Given the description of an element on the screen output the (x, y) to click on. 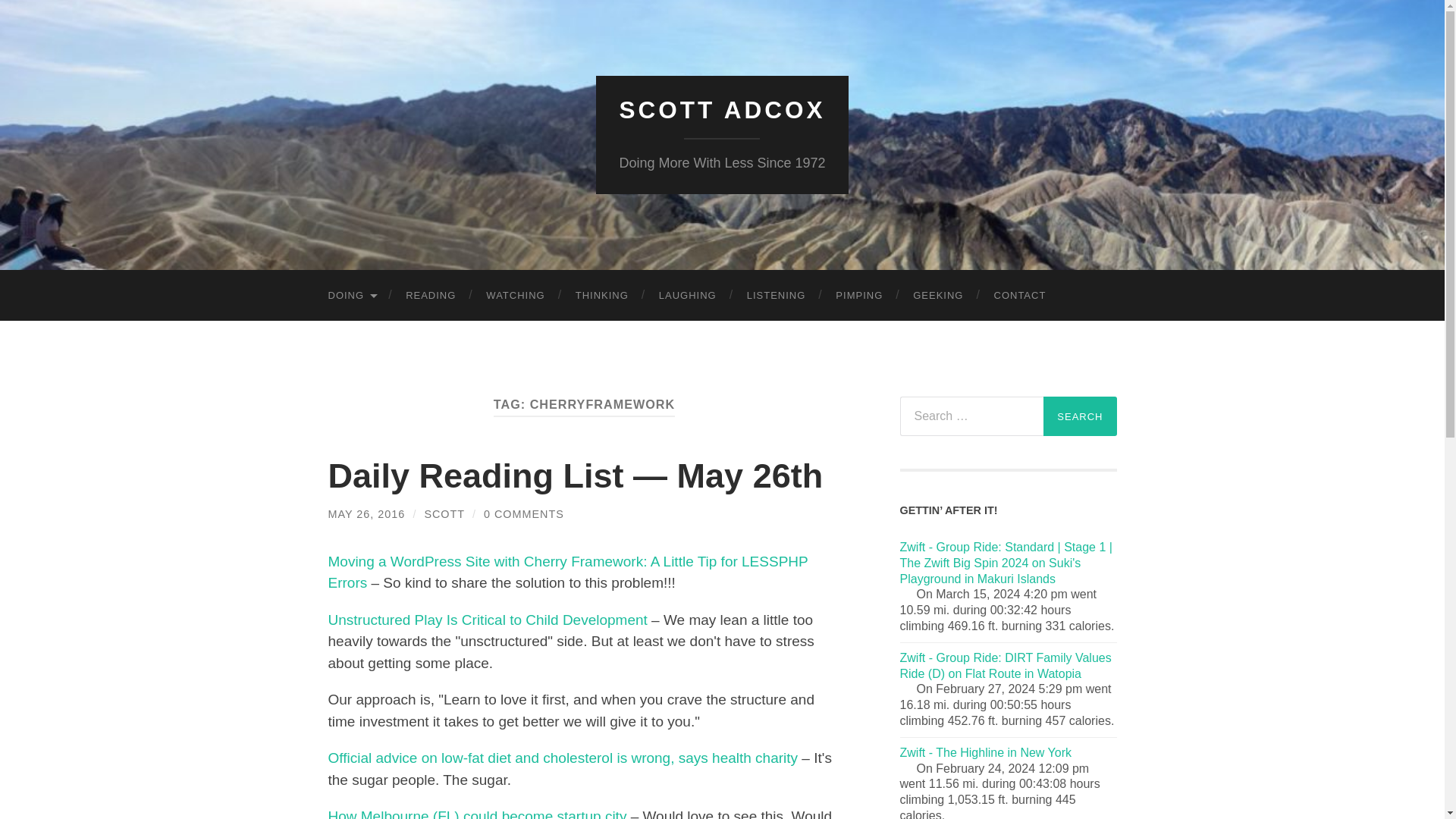
Search (1079, 415)
THINKING (601, 295)
GEEKING (938, 295)
LAUGHING (687, 295)
MAY 26, 2016 (365, 513)
Posts by Scott (443, 513)
READING (430, 295)
SCOTT (443, 513)
0 COMMENTS (523, 513)
SCOTT ADCOX (721, 109)
Search (1079, 415)
CONTACT (1019, 295)
PIMPING (859, 295)
WATCHING (514, 295)
